Given the description of an element on the screen output the (x, y) to click on. 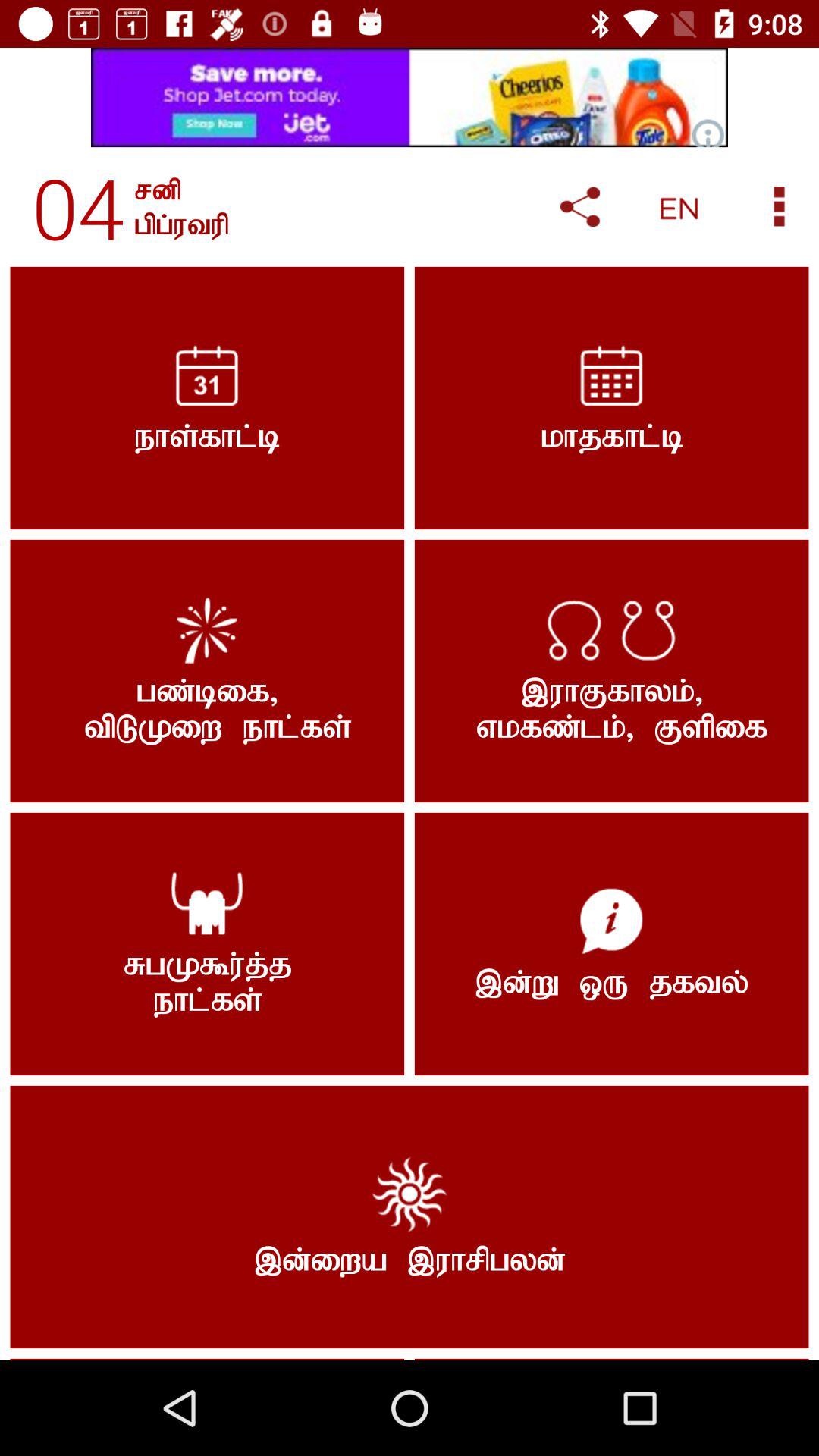
advertisement (409, 97)
